Given the description of an element on the screen output the (x, y) to click on. 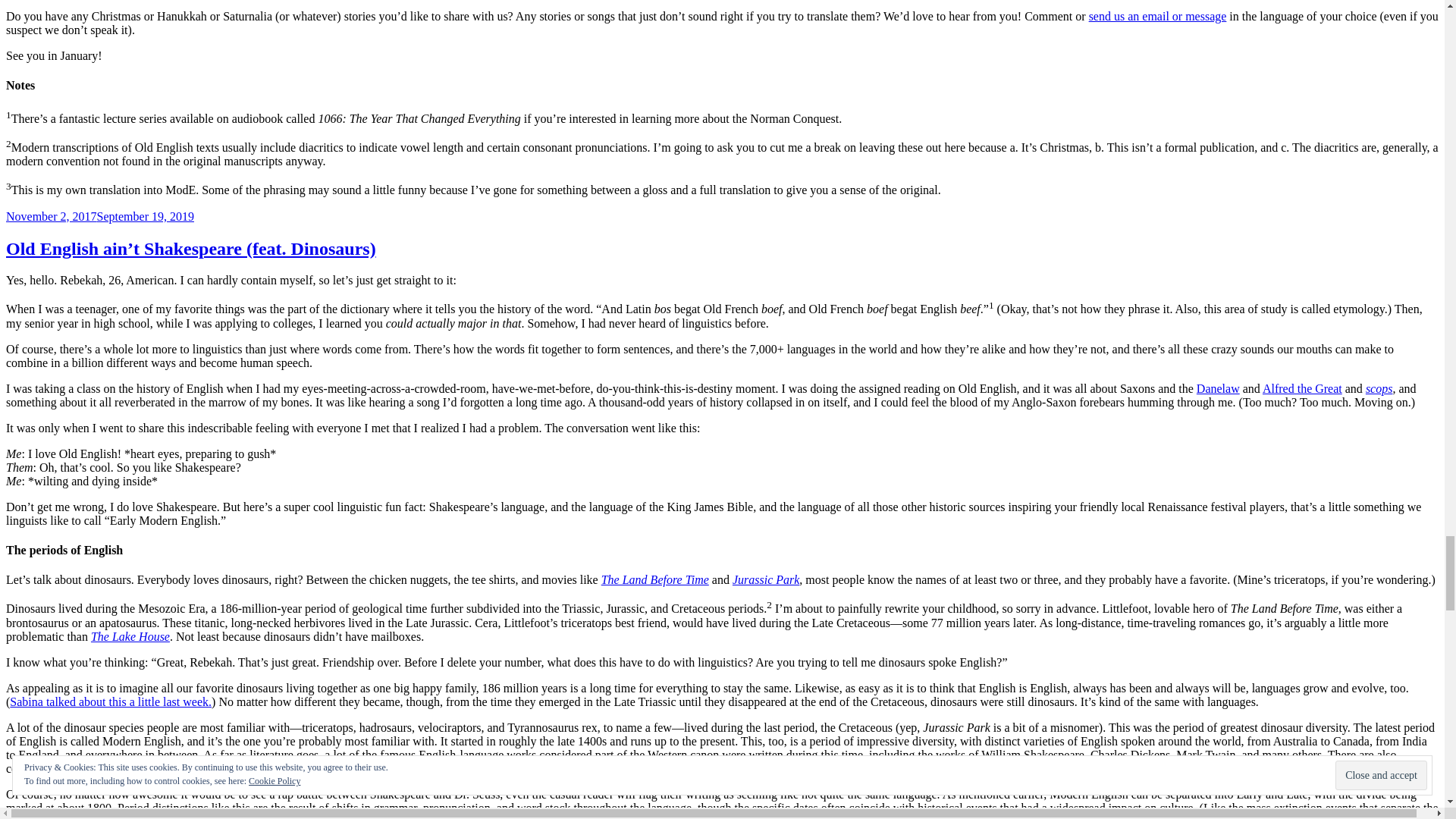
November 2, 2017September 19, 2019 (99, 215)
send us an email or message (1158, 15)
Danelaw (1218, 388)
